Given the description of an element on the screen output the (x, y) to click on. 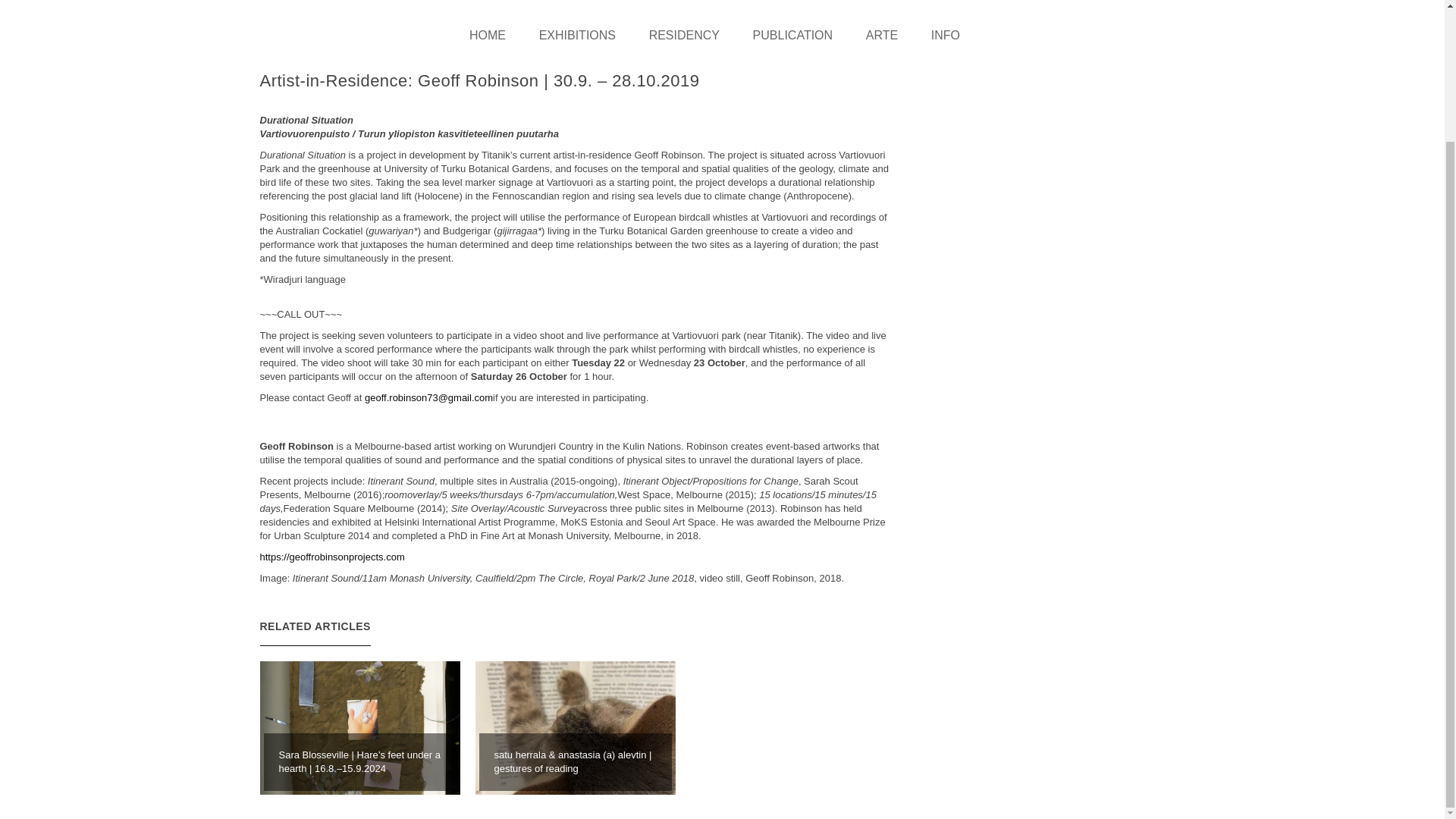
ARTE (881, 35)
PUBLICATION (793, 35)
INFO (945, 35)
EXHIBITIONS (577, 35)
HOME (494, 35)
RESIDENCY (684, 35)
